Given the description of an element on the screen output the (x, y) to click on. 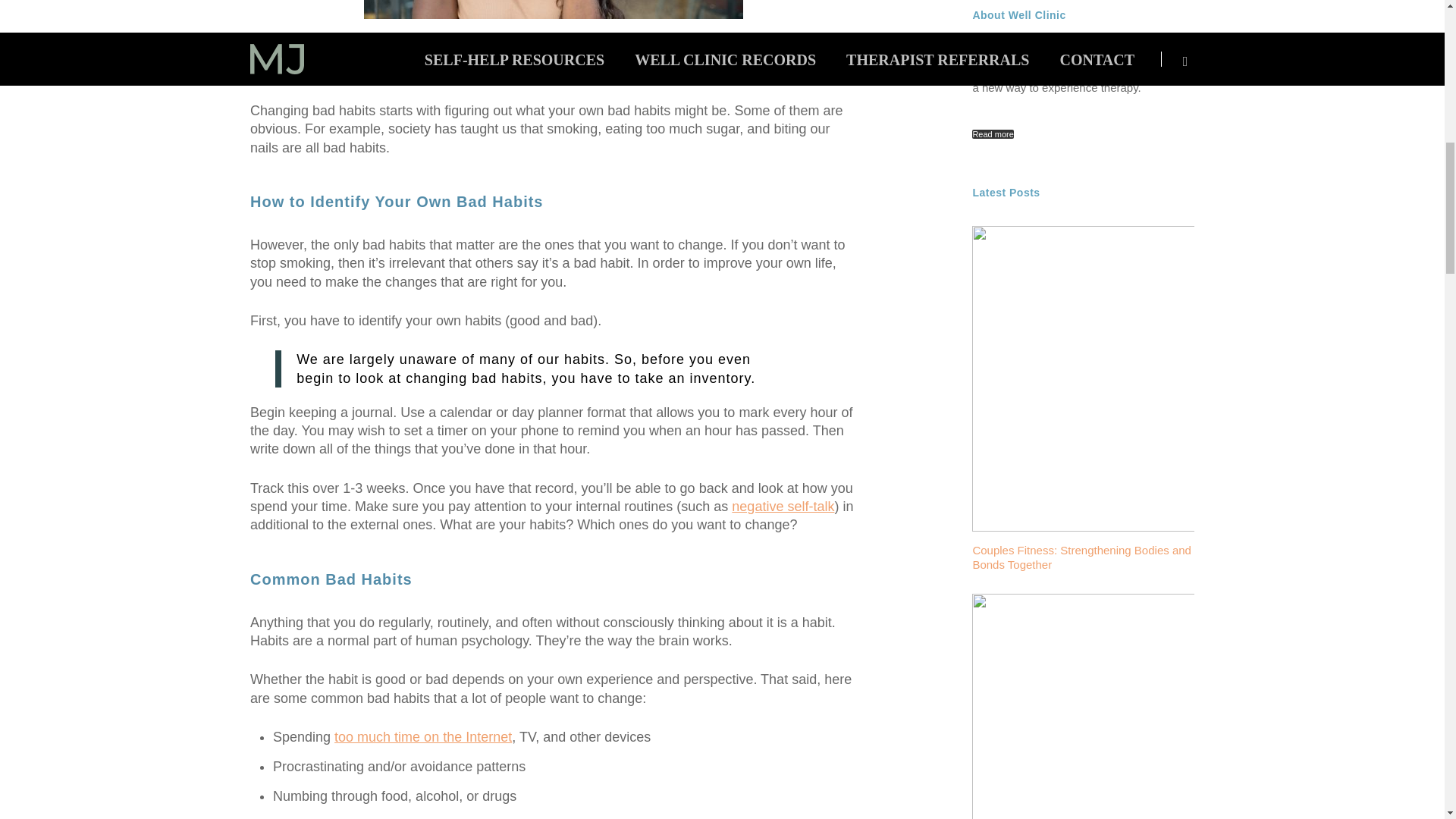
negative self-talk (783, 506)
Read more (992, 133)
too much time on the Internet (423, 736)
Couples Fitness: Strengthening Bodies and Bonds Together (1082, 561)
